Given the description of an element on the screen output the (x, y) to click on. 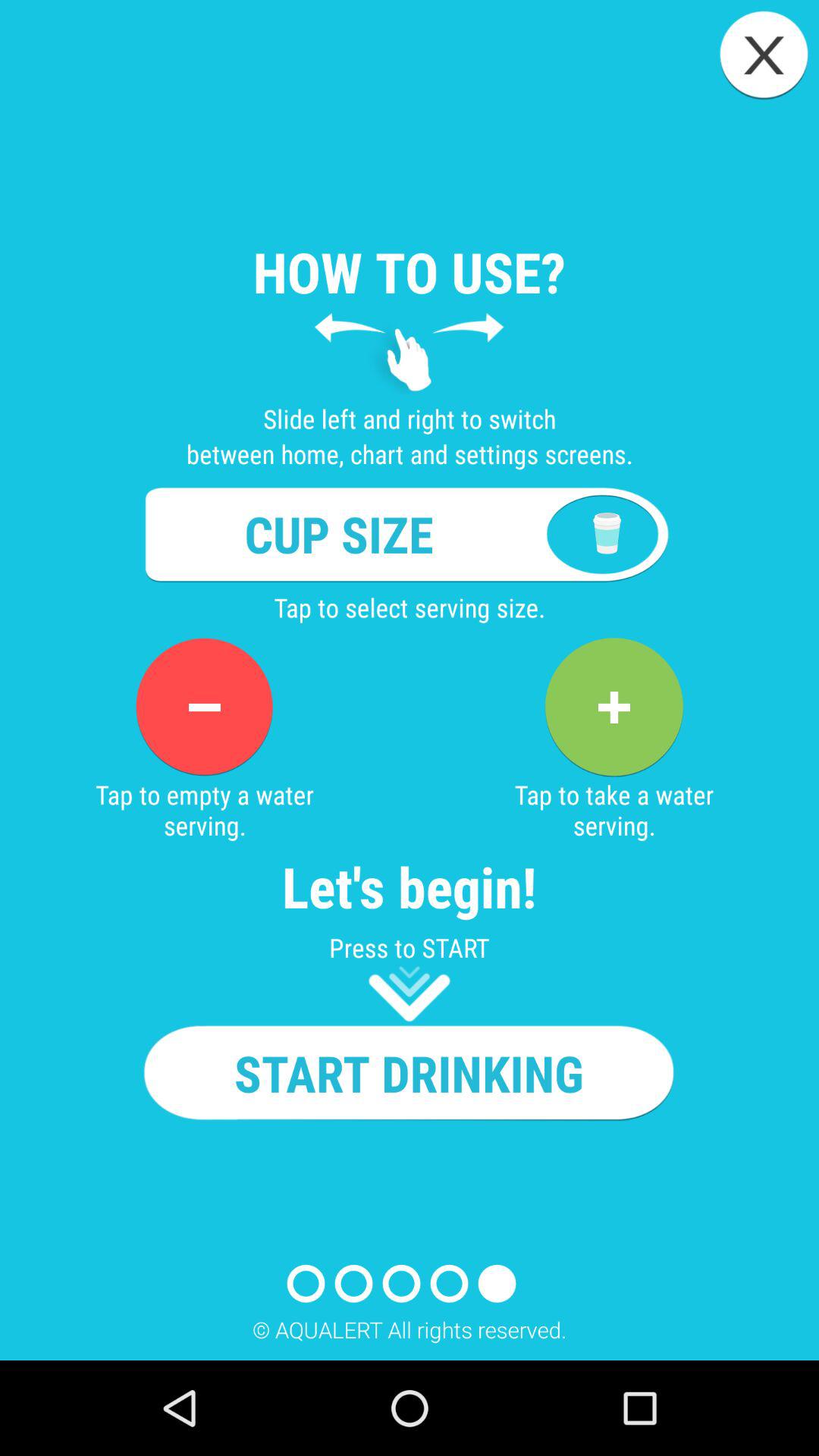
add water serving (613, 706)
